Given the description of an element on the screen output the (x, y) to click on. 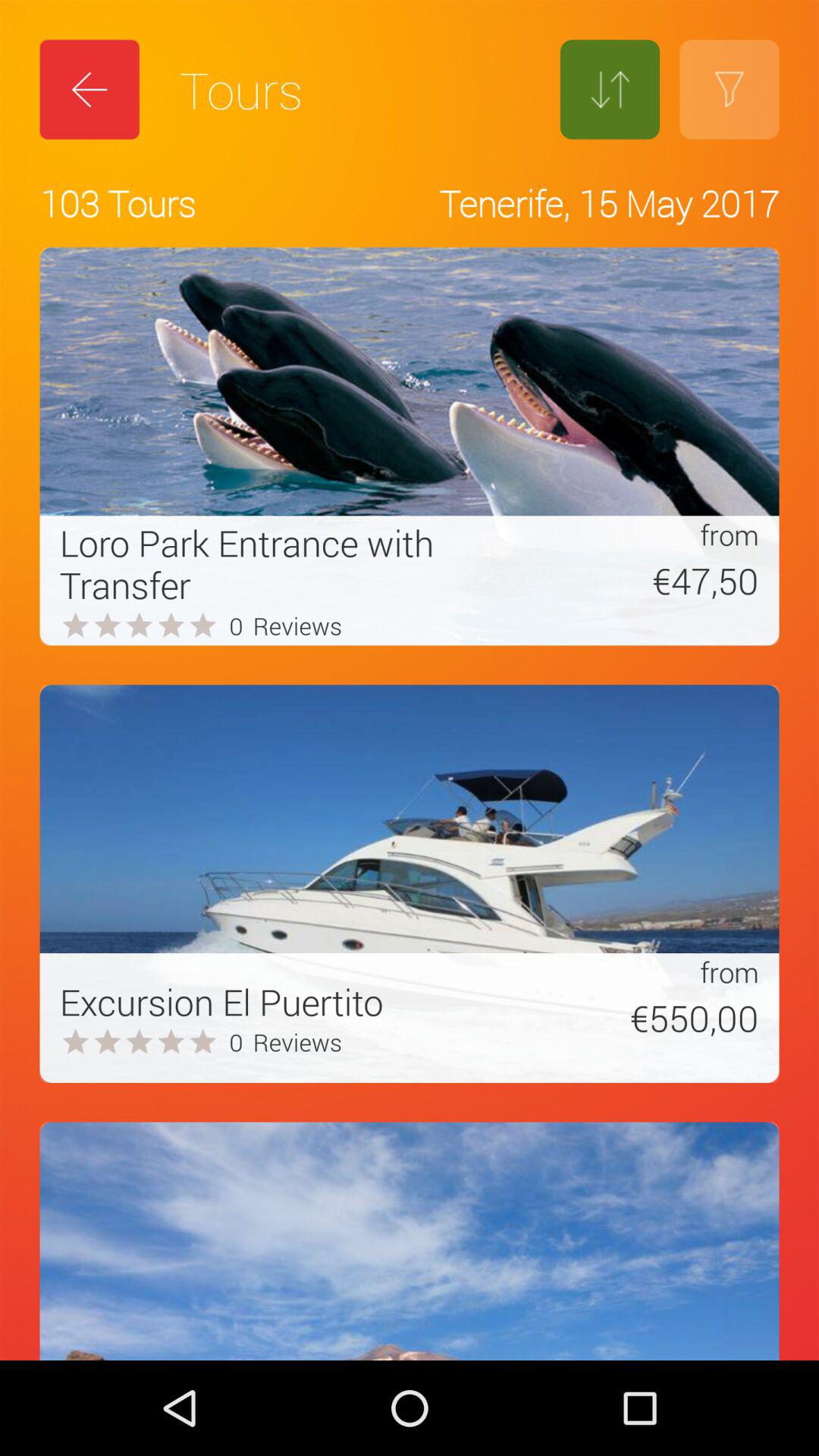
choose the icon below the from item (632, 580)
